Given the description of an element on the screen output the (x, y) to click on. 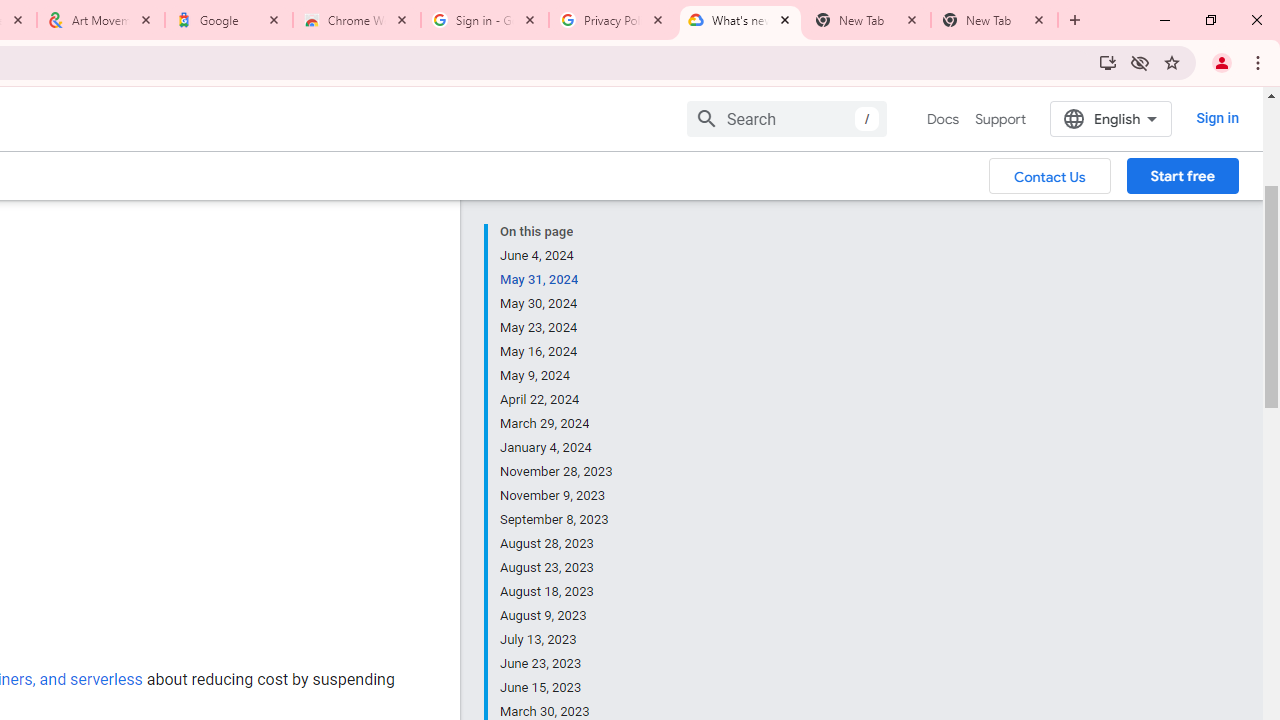
November 28, 2023 (557, 471)
January 4, 2024 (557, 448)
August 23, 2023 (557, 567)
August 9, 2023 (557, 615)
Docs, selected (942, 119)
English (1110, 118)
